Given the description of an element on the screen output the (x, y) to click on. 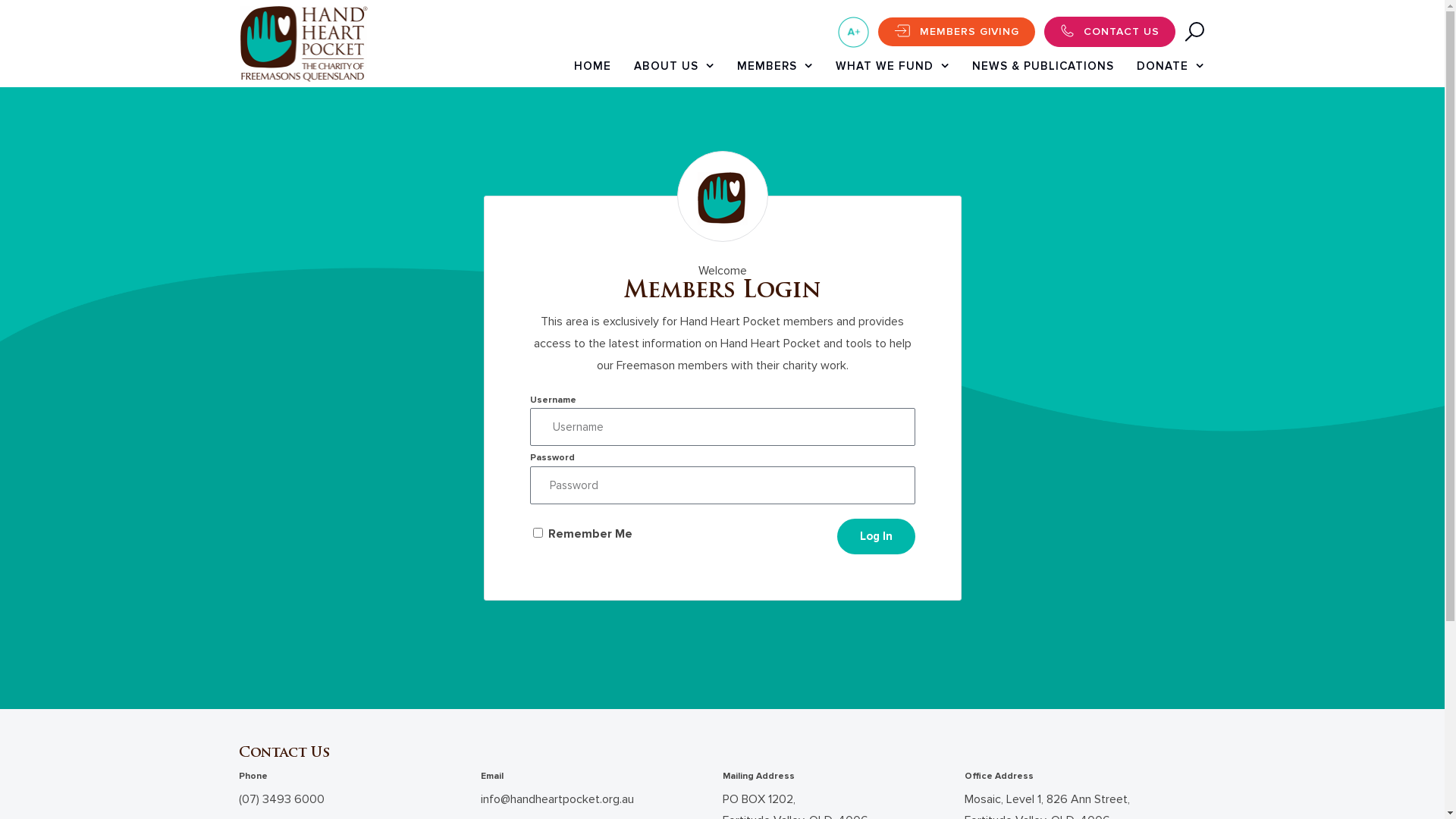
(07) 3493 6000 Element type: text (280, 798)
Log In Element type: text (876, 536)
WHAT WE FUND Element type: text (892, 69)
Search Element type: text (1142, 40)
NEWS & PUBLICATIONS Element type: text (1042, 69)
DONATE Element type: text (1170, 69)
ABOUT US Element type: text (673, 69)
HOME Element type: text (592, 69)
MEMBERS GIVING Element type: text (956, 30)
ui-hhp-logo@2x Element type: hover (303, 43)
MEMBERS Element type: text (774, 69)
info@handheartpocket.org.au Element type: text (556, 798)
CONTACT US Element type: text (1109, 31)
